Given the description of an element on the screen output the (x, y) to click on. 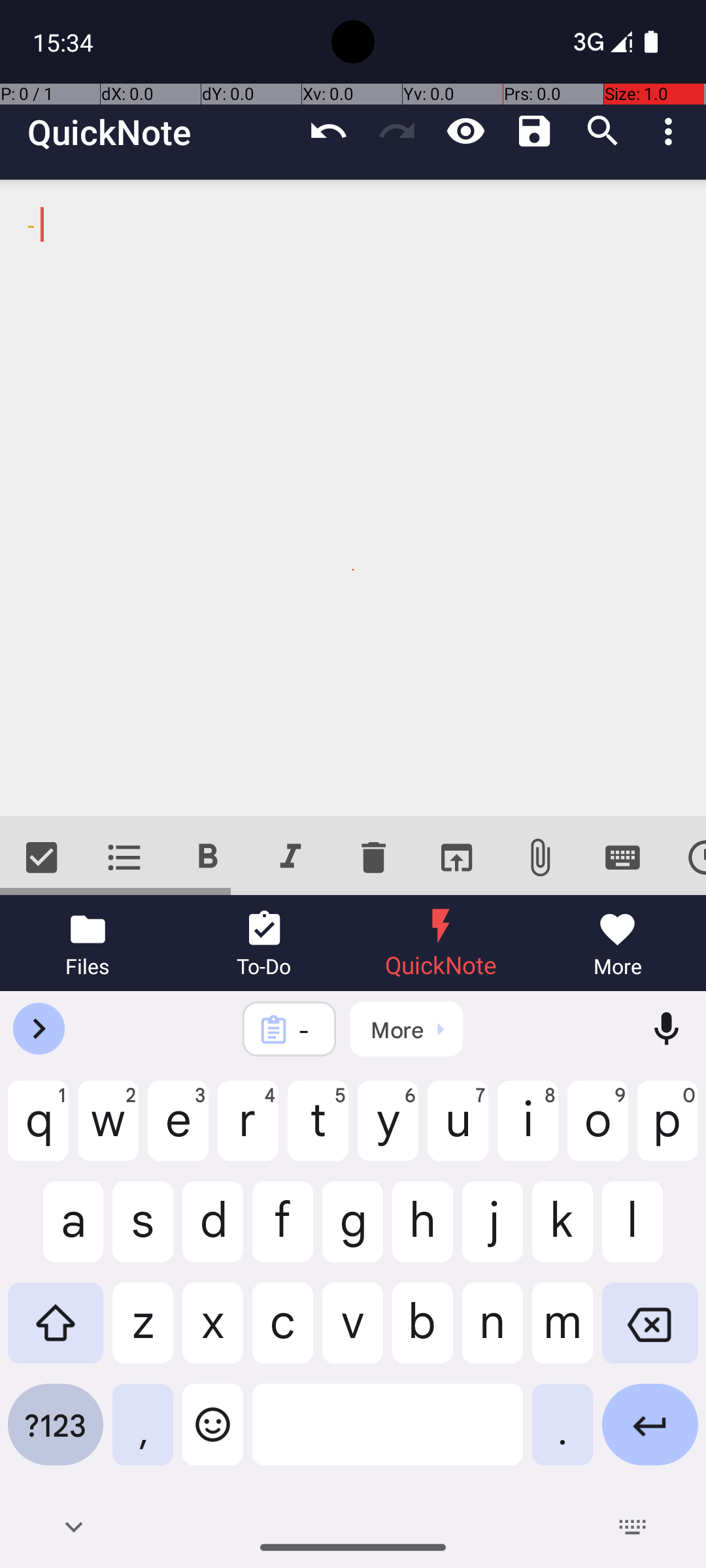
-  Element type: android.widget.EditText (353, 497)
